Given the description of an element on the screen output the (x, y) to click on. 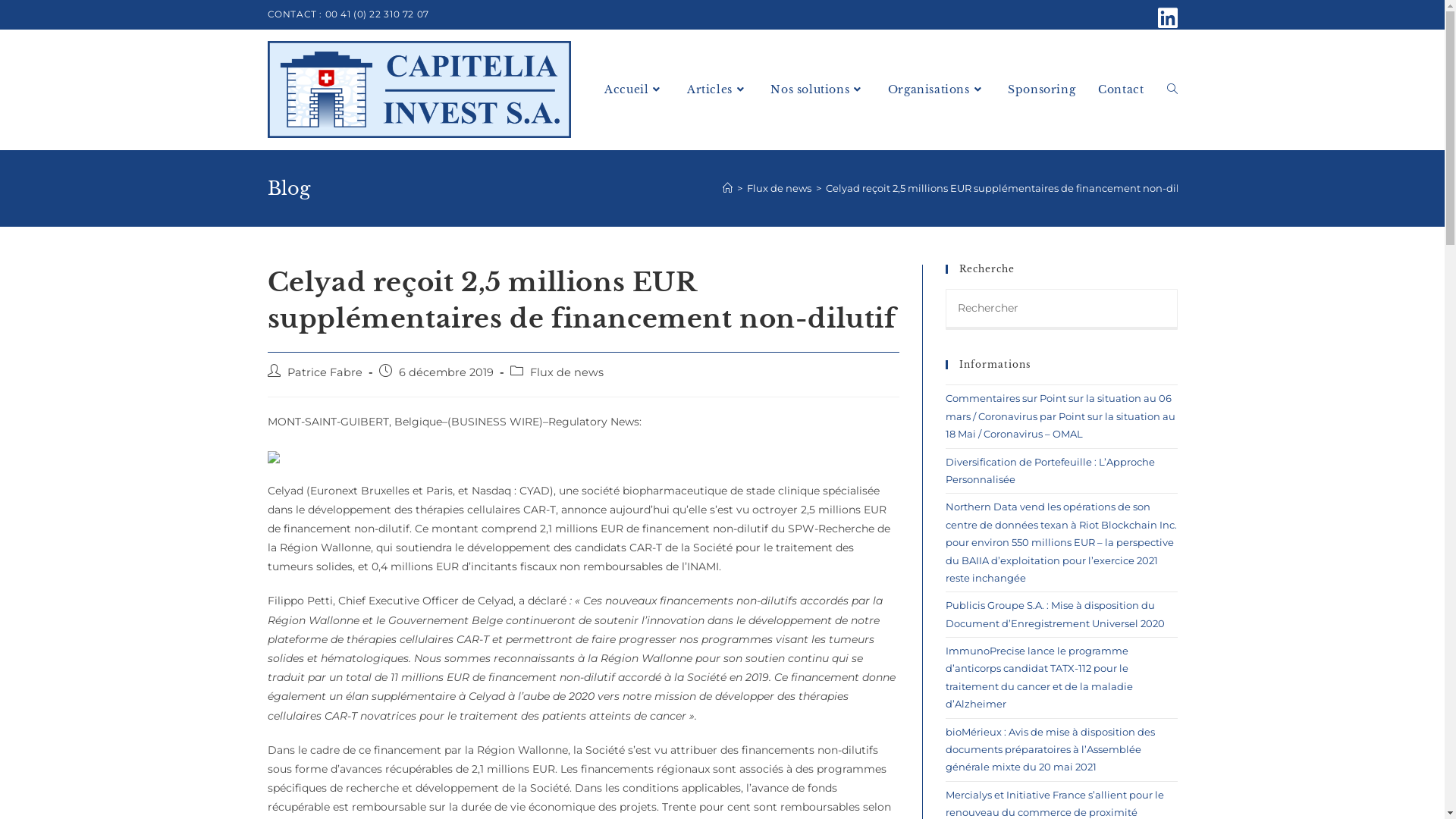
Toggle website search Element type: text (1172, 89)
Accueil Element type: text (634, 89)
Organisations Element type: text (936, 89)
Flux de news Element type: text (778, 188)
Articles Element type: text (717, 89)
Contact Element type: text (1120, 89)
Patrice Fabre Element type: text (323, 372)
Flux de news Element type: text (565, 372)
Sponsoring Element type: text (1041, 89)
Nos solutions Element type: text (817, 89)
